Given the description of an element on the screen output the (x, y) to click on. 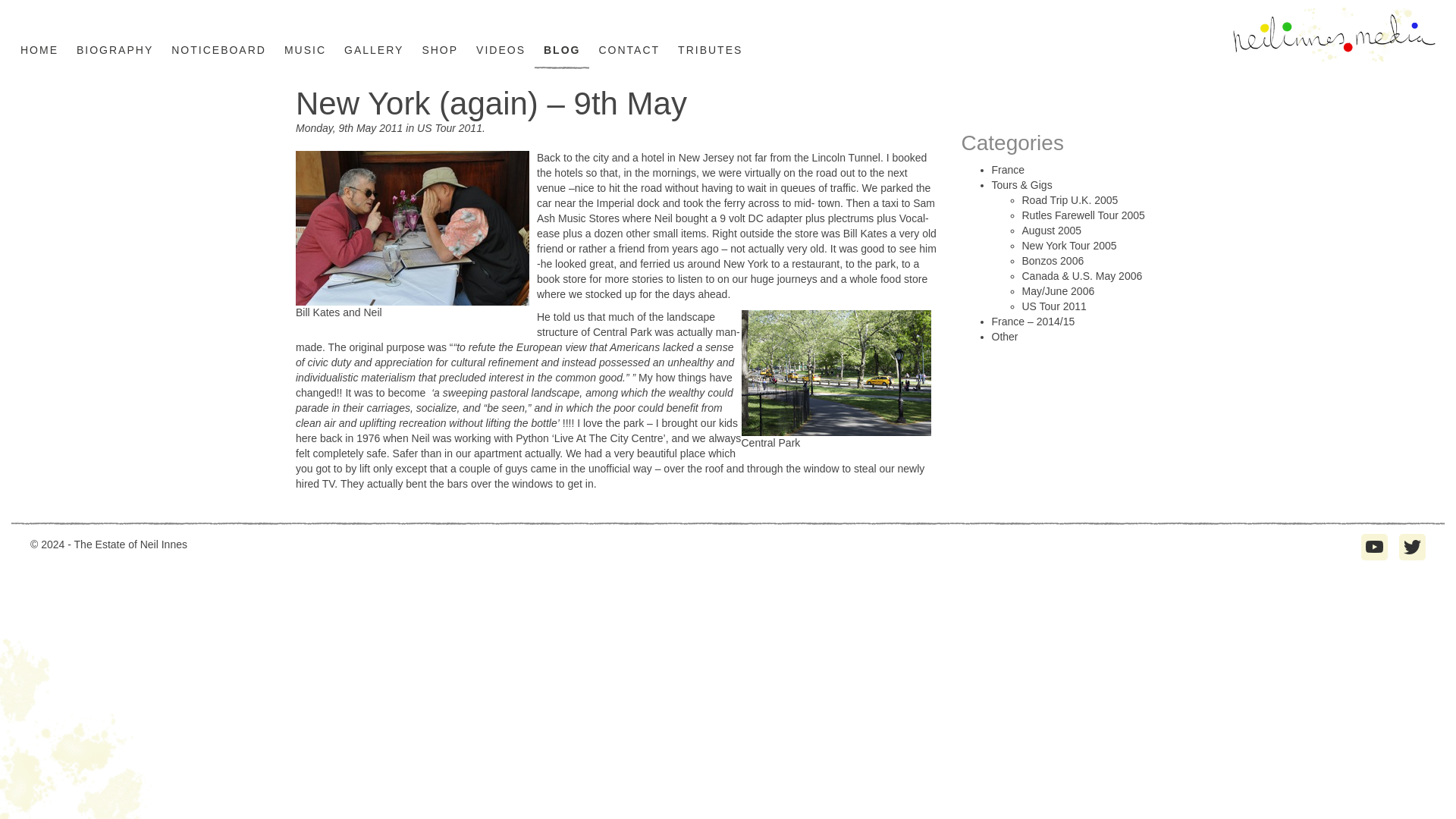
Bonzos 2006 (1053, 260)
SHOP (439, 49)
France (1008, 169)
Road Trip U.K. 2005 (1070, 200)
August 2005 (1051, 230)
MUSIC (305, 49)
BIOGRAPHY (114, 49)
GALLERY (373, 49)
New York Tour 2005 (1069, 245)
BLOG (561, 49)
